Given the description of an element on the screen output the (x, y) to click on. 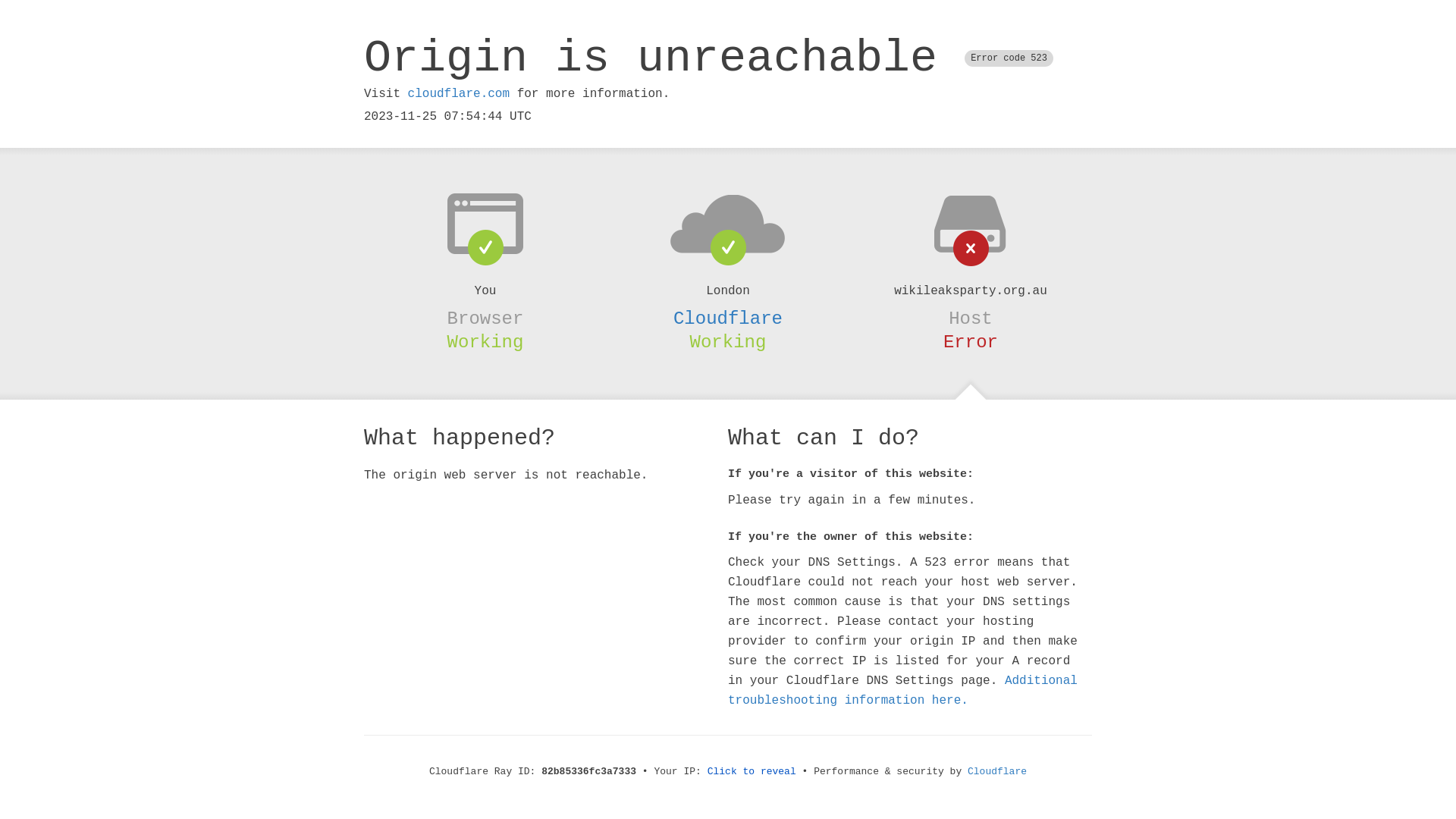
Cloudflare Element type: text (996, 771)
Additional troubleshooting information here. Element type: text (902, 690)
cloudflare.com Element type: text (458, 93)
Cloudflare Element type: text (727, 318)
Click to reveal Element type: text (751, 771)
